Given the description of an element on the screen output the (x, y) to click on. 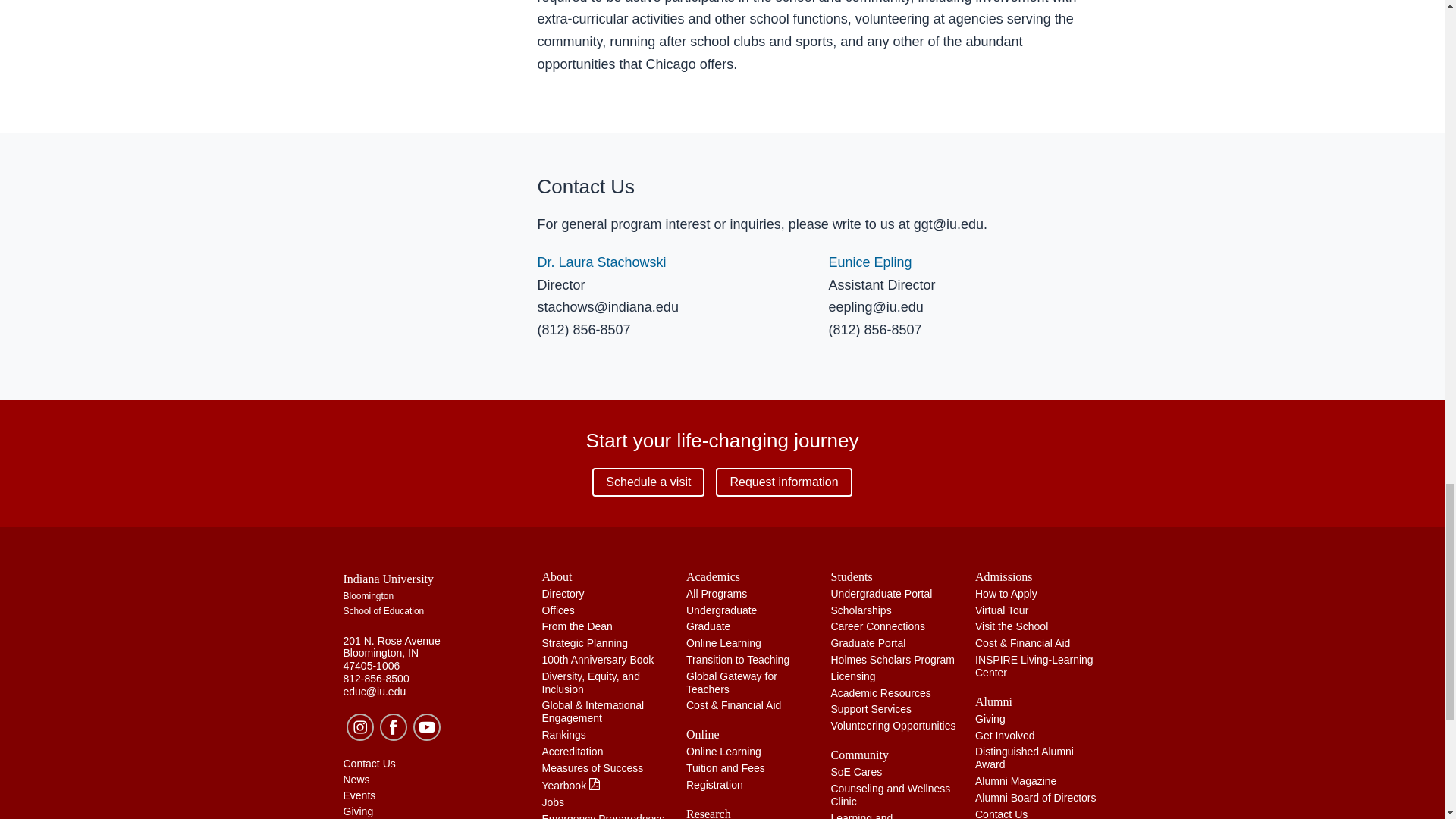
Offices (557, 610)
Yearbook (571, 785)
Strategic Planning (584, 643)
Jobs (552, 802)
Schedule a campus visit (648, 481)
Request information (783, 481)
Accreditation (571, 751)
About (604, 576)
From the Dean (576, 625)
100th Anniversary Book (597, 659)
